Given the description of an element on the screen output the (x, y) to click on. 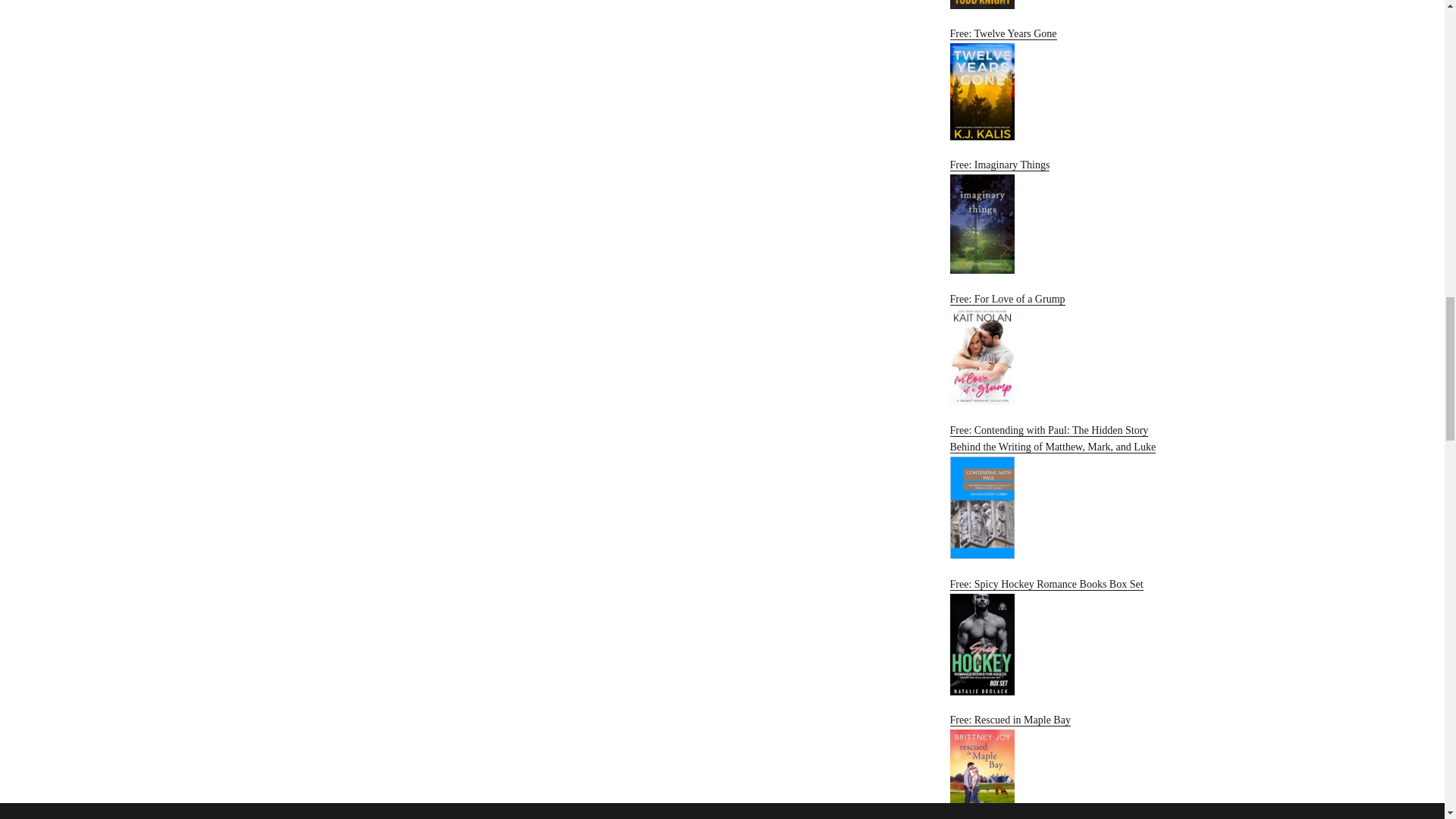
Free: Imaginary Things (1062, 215)
Free: The Posh Prepper (1062, 4)
Free: For Love of a Grump (1062, 348)
Free: Twelve Years Gone (1062, 83)
